Given the description of an element on the screen output the (x, y) to click on. 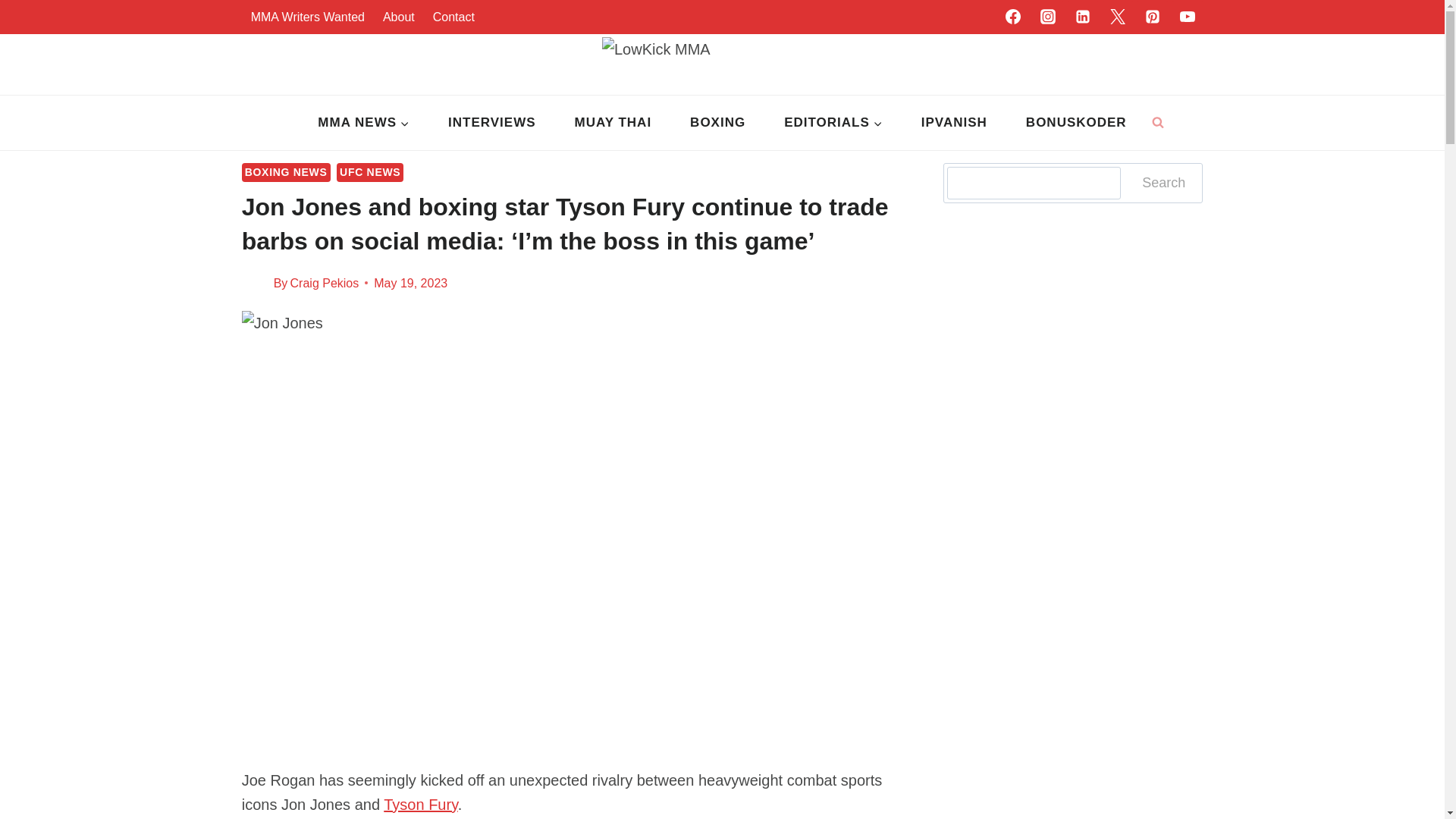
INTERVIEWS (491, 122)
About (398, 17)
MUAY THAI (612, 122)
EDITORIALS (833, 122)
MMA Writers Wanted (307, 17)
IPVANISH (953, 122)
MMA NEWS (363, 122)
BONUSKODER (1075, 122)
Tyson Fury (420, 804)
Contact (453, 17)
BOXING (718, 122)
